Given the description of an element on the screen output the (x, y) to click on. 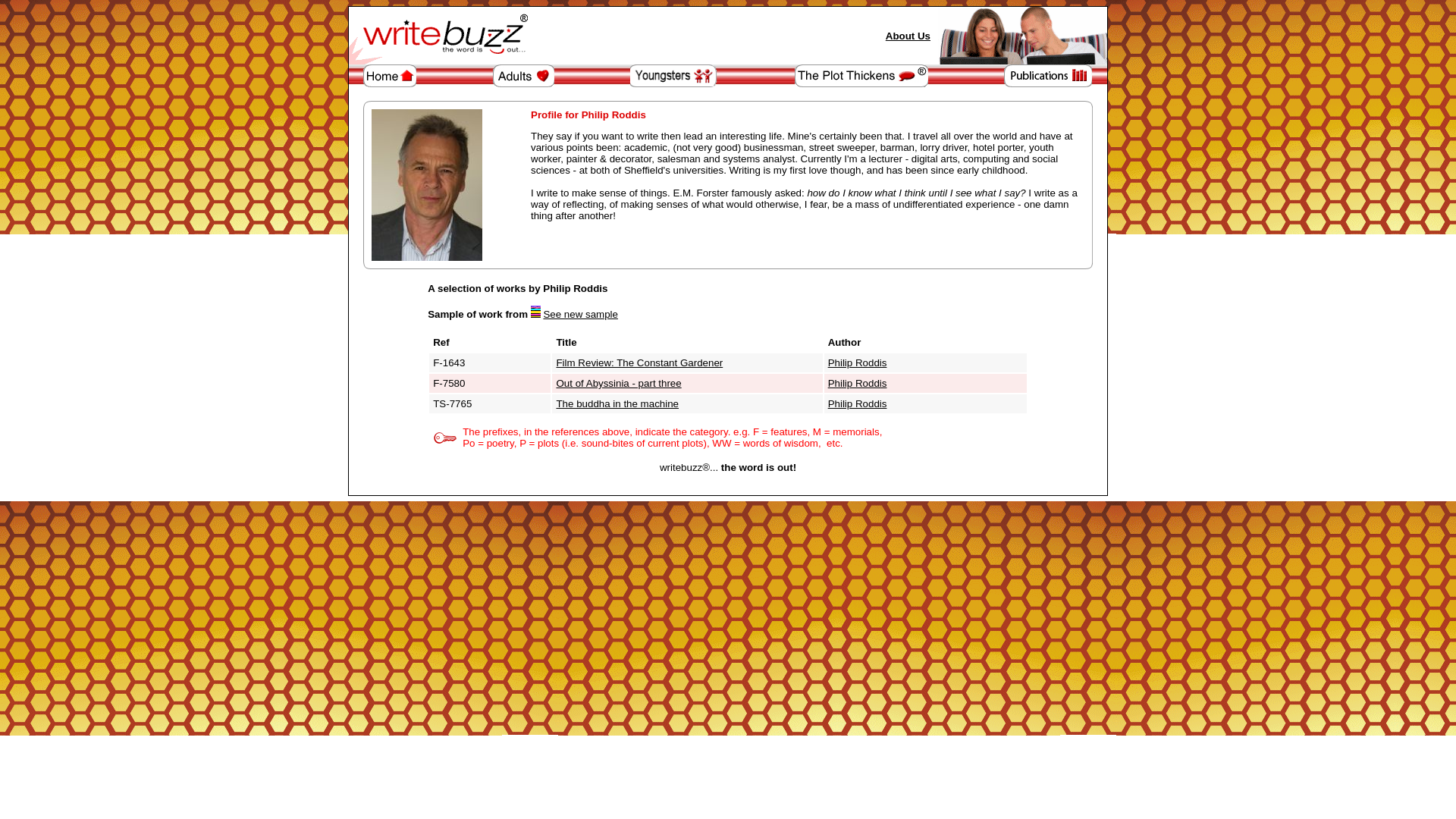
Philip Roddis (857, 403)
Reshuffle the list (580, 314)
Philip Roddis (857, 403)
Philip Roddis (857, 362)
Philip Roddis (857, 383)
Philip Roddis (857, 383)
Out of Abyssinia - part three (618, 383)
Philip Roddis (857, 362)
Contact (907, 35)
See new sample (580, 314)
